Given the description of an element on the screen output the (x, y) to click on. 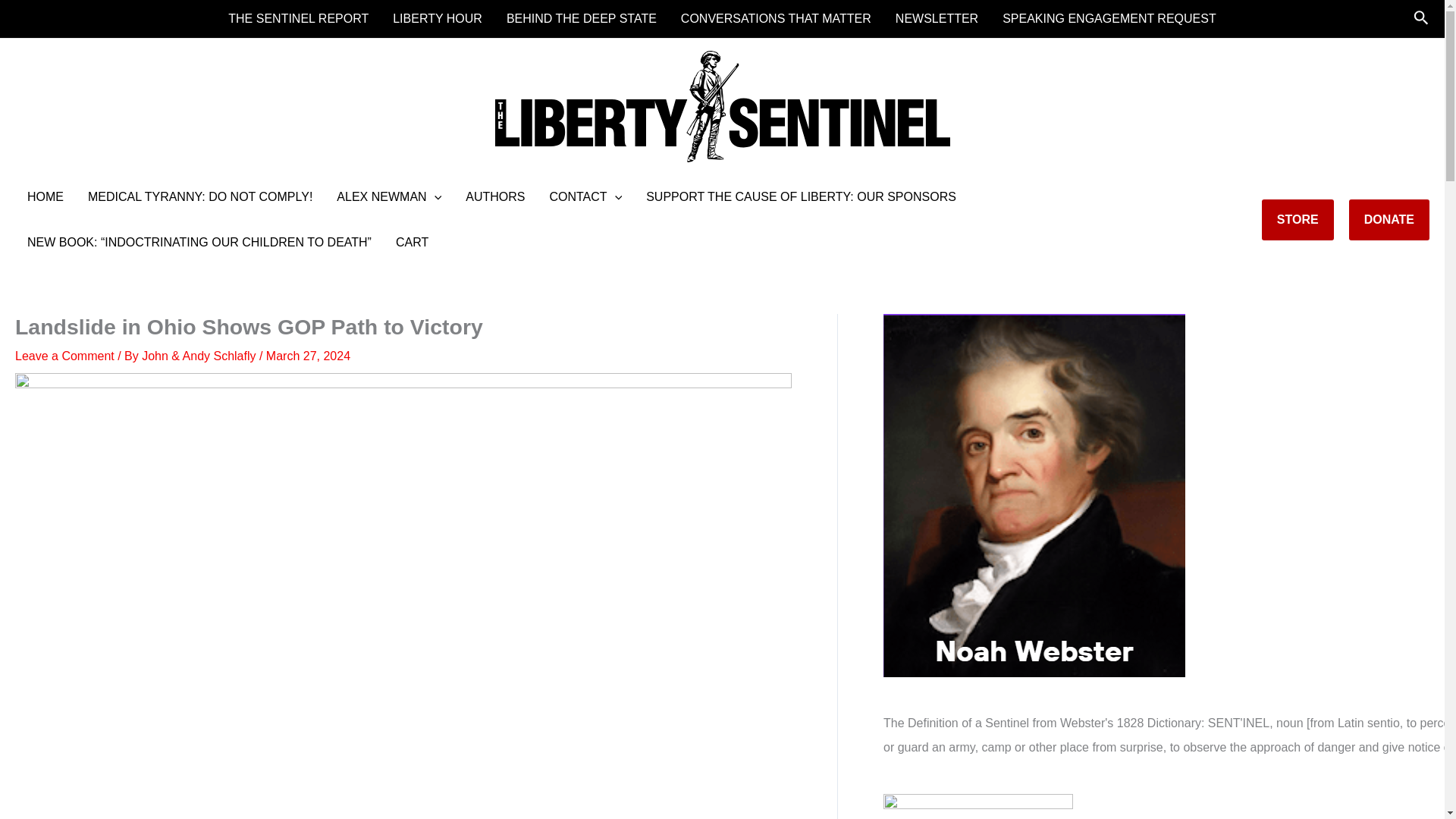
MEDICAL TYRANNY: DO NOT COMPLY! (199, 197)
AUTHORS (494, 197)
SUPPORT THE CAUSE OF LIBERTY: OUR SPONSORS (800, 197)
CONTACT (585, 197)
LIBERTY HOUR (437, 18)
NEWSLETTER (936, 18)
SPEAKING ENGAGEMENT REQUEST (1109, 18)
BEHIND THE DEEP STATE (581, 18)
DONATE (1389, 219)
STORE (1297, 219)
